Given the description of an element on the screen output the (x, y) to click on. 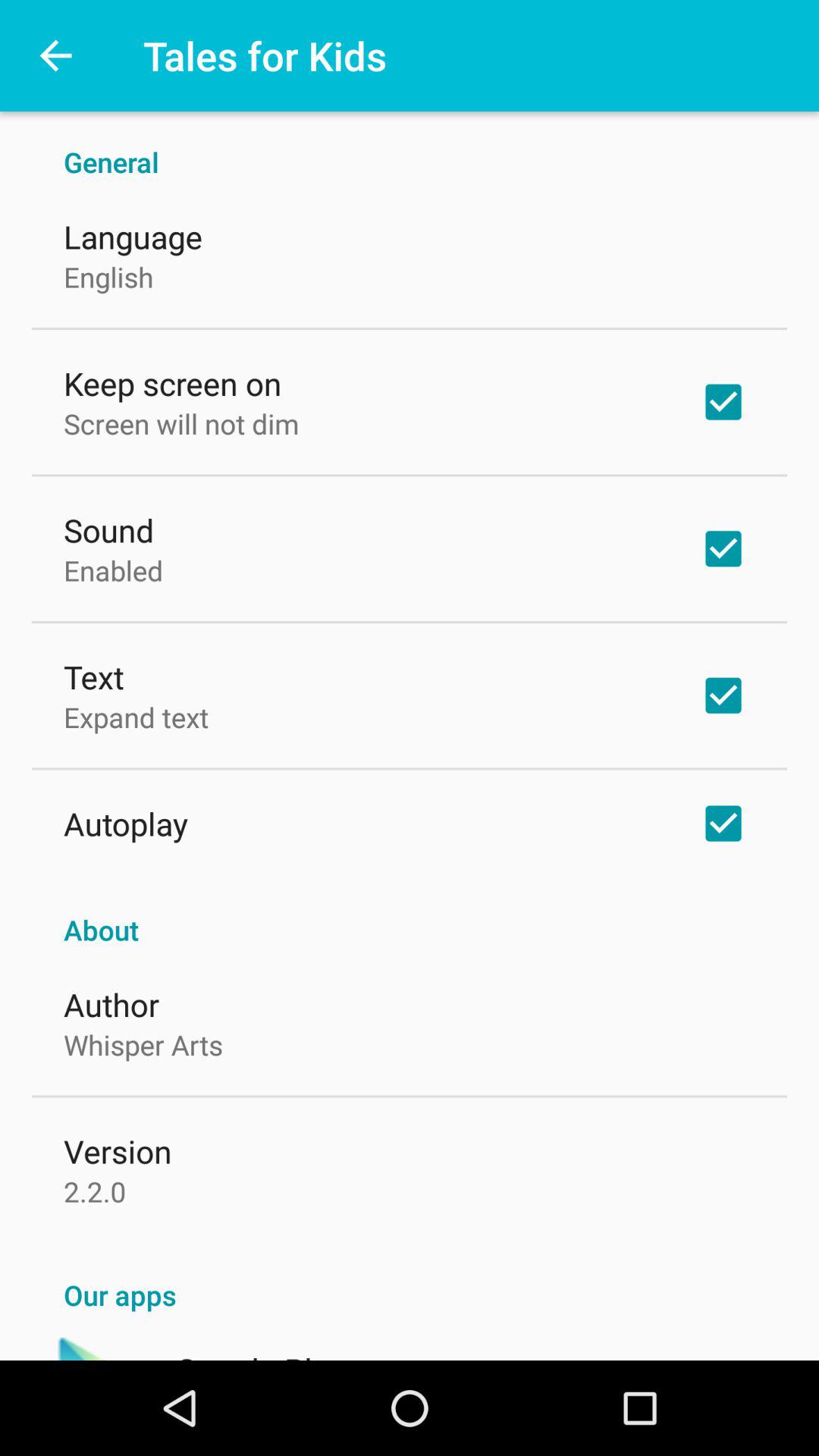
select 2.2.0 (94, 1191)
